Given the description of an element on the screen output the (x, y) to click on. 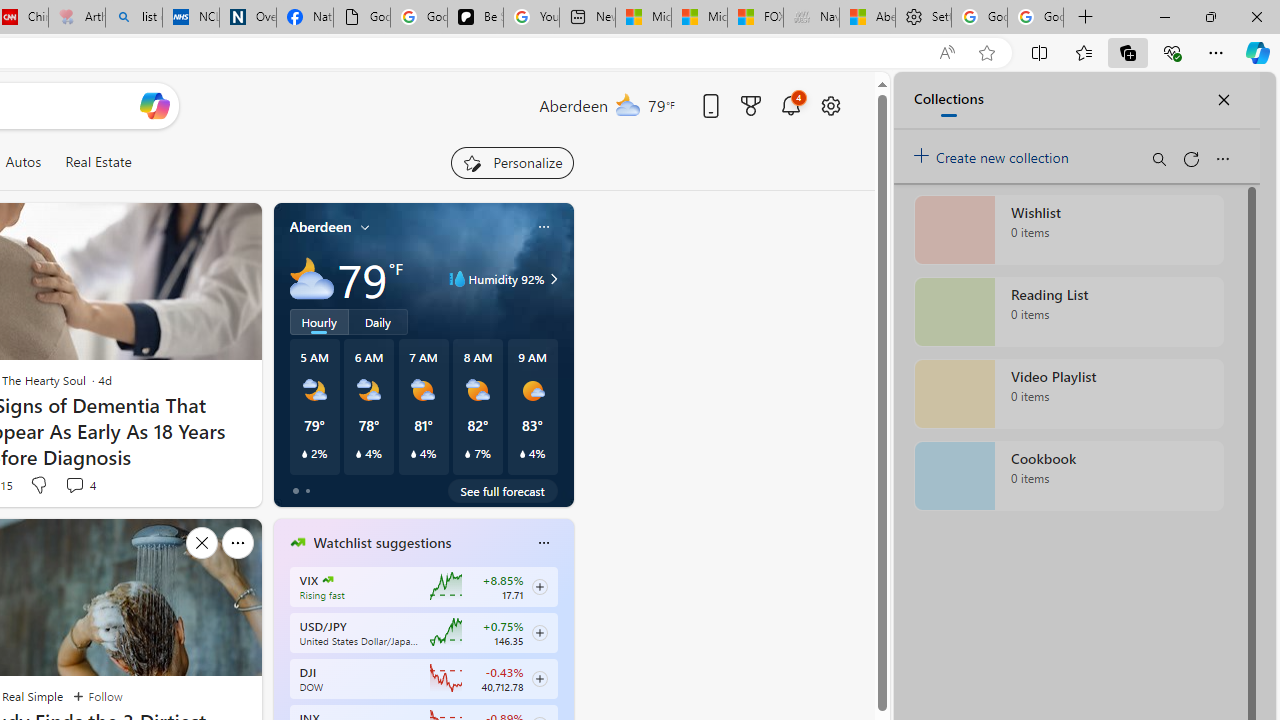
Class: weather-current-precipitation-glyph (522, 453)
Hide this story (201, 542)
Aberdeen (320, 227)
You're following FOX News (197, 490)
